Given the description of an element on the screen output the (x, y) to click on. 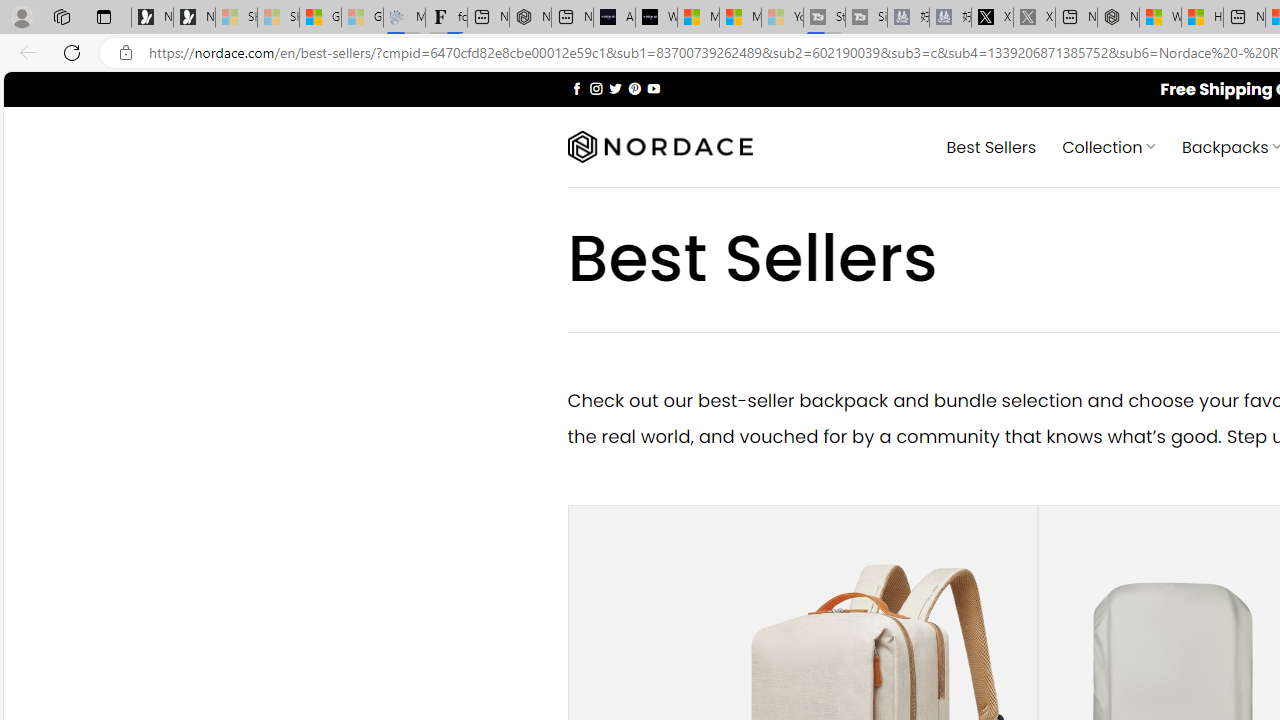
Nordace (659, 147)
New tab (1243, 17)
Follow on Twitter (615, 88)
Follow on Pinterest (634, 88)
Tab actions menu (104, 16)
Refresh (72, 52)
X (991, 17)
View site information (125, 53)
 Best Sellers (990, 146)
Follow on YouTube (653, 88)
